Given the description of an element on the screen output the (x, y) to click on. 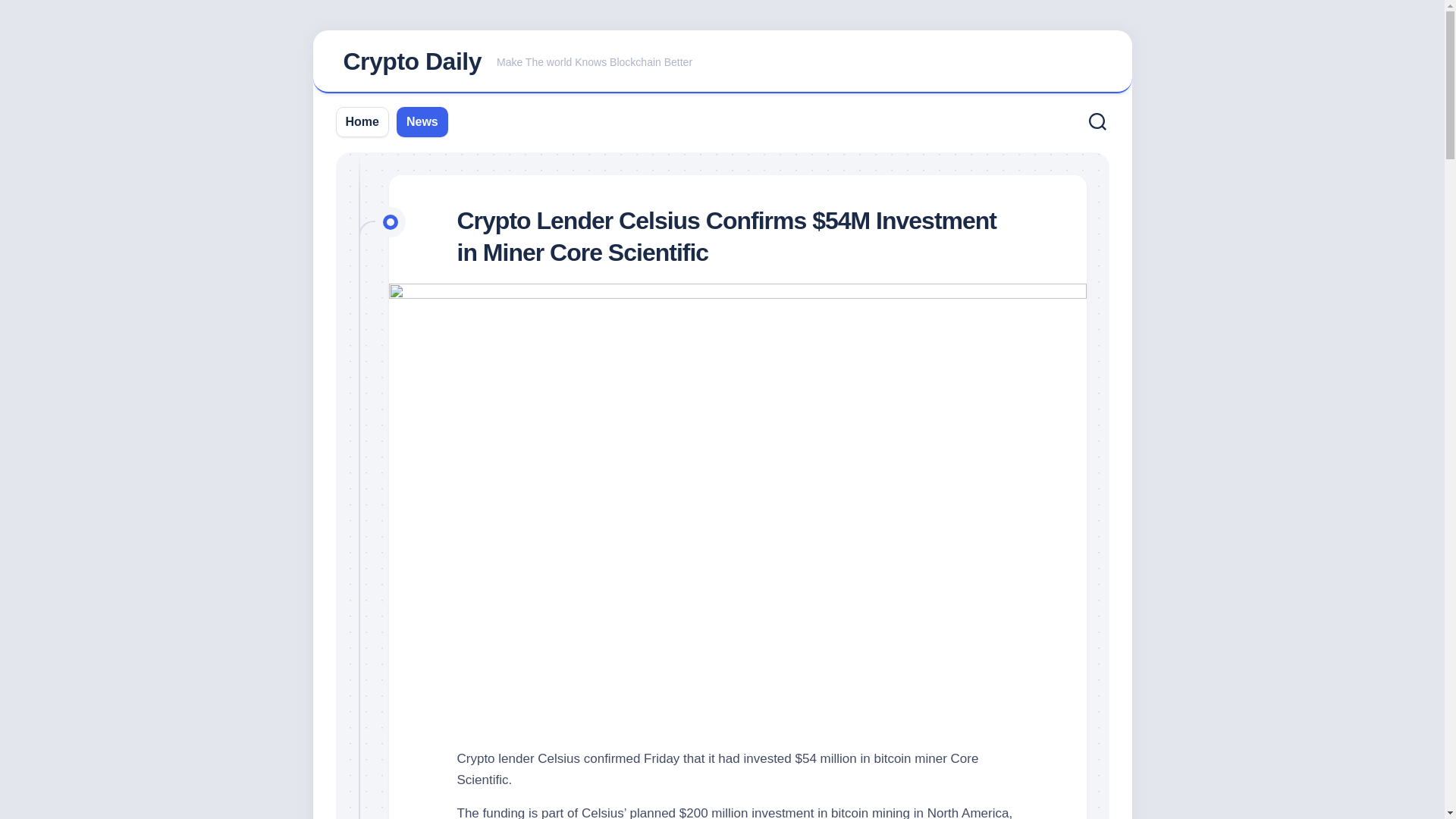
News (422, 121)
Home (722, 62)
Crypto Daily (362, 121)
